Given the description of an element on the screen output the (x, y) to click on. 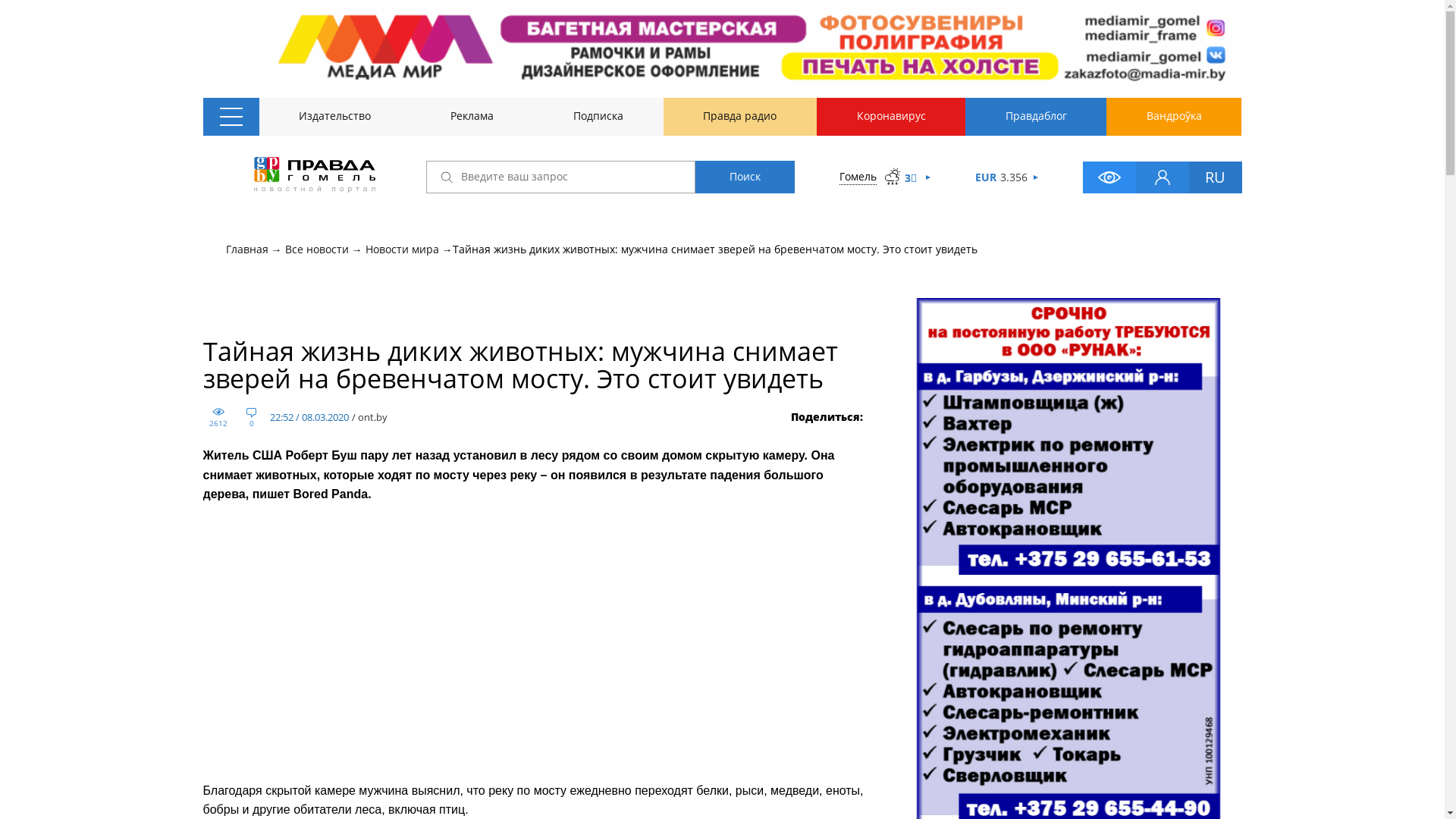
EUR3.356 Element type: text (984, 177)
   Element type: text (310, 177)
